Given the description of an element on the screen output the (x, y) to click on. 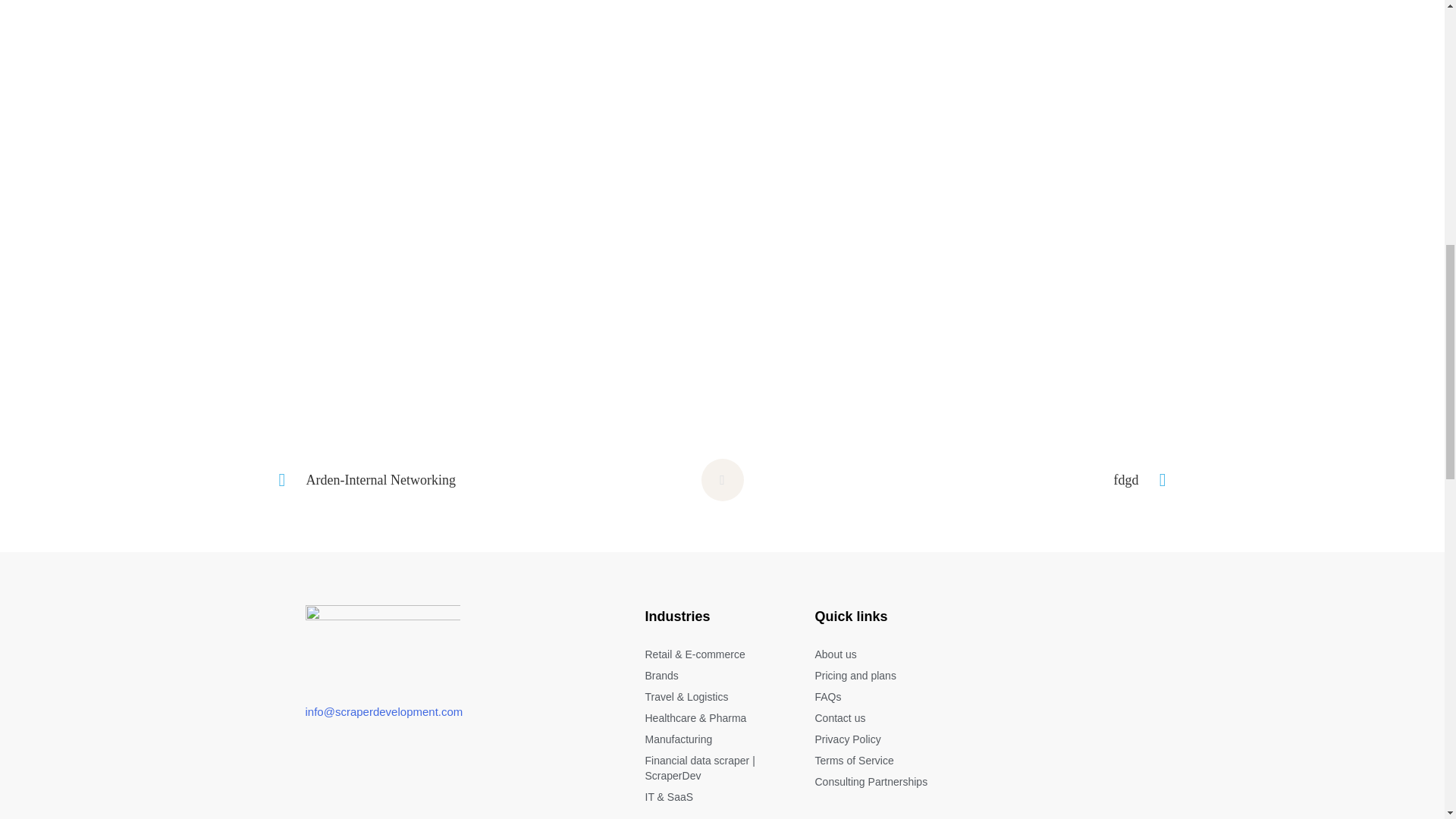
fdgd (1003, 479)
Arden-Internal Networking (442, 479)
